Given the description of an element on the screen output the (x, y) to click on. 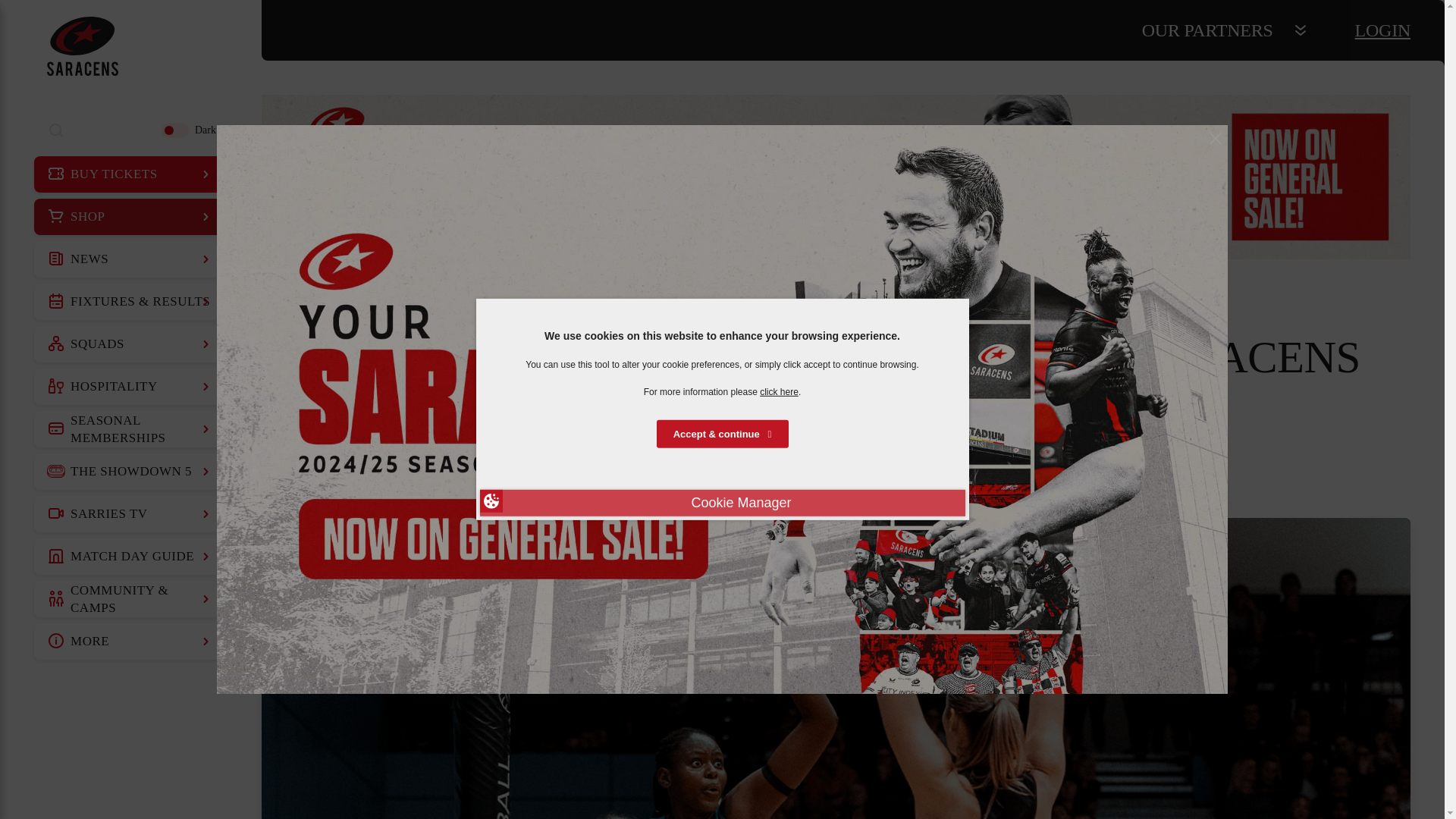
SEASONAL MEMBERSHIPS (130, 429)
SQUADS (130, 343)
BUY TICKETS (130, 174)
THE SHOWDOWN 5 (130, 471)
LOGIN (1382, 29)
SARRIES TV (130, 514)
MORE (130, 641)
Search (55, 130)
MATCH DAY GUIDE (130, 556)
HOSPITALITY (130, 386)
SHOP (130, 217)
NEWS (130, 258)
Cookie Manager (721, 502)
